Given the description of an element on the screen output the (x, y) to click on. 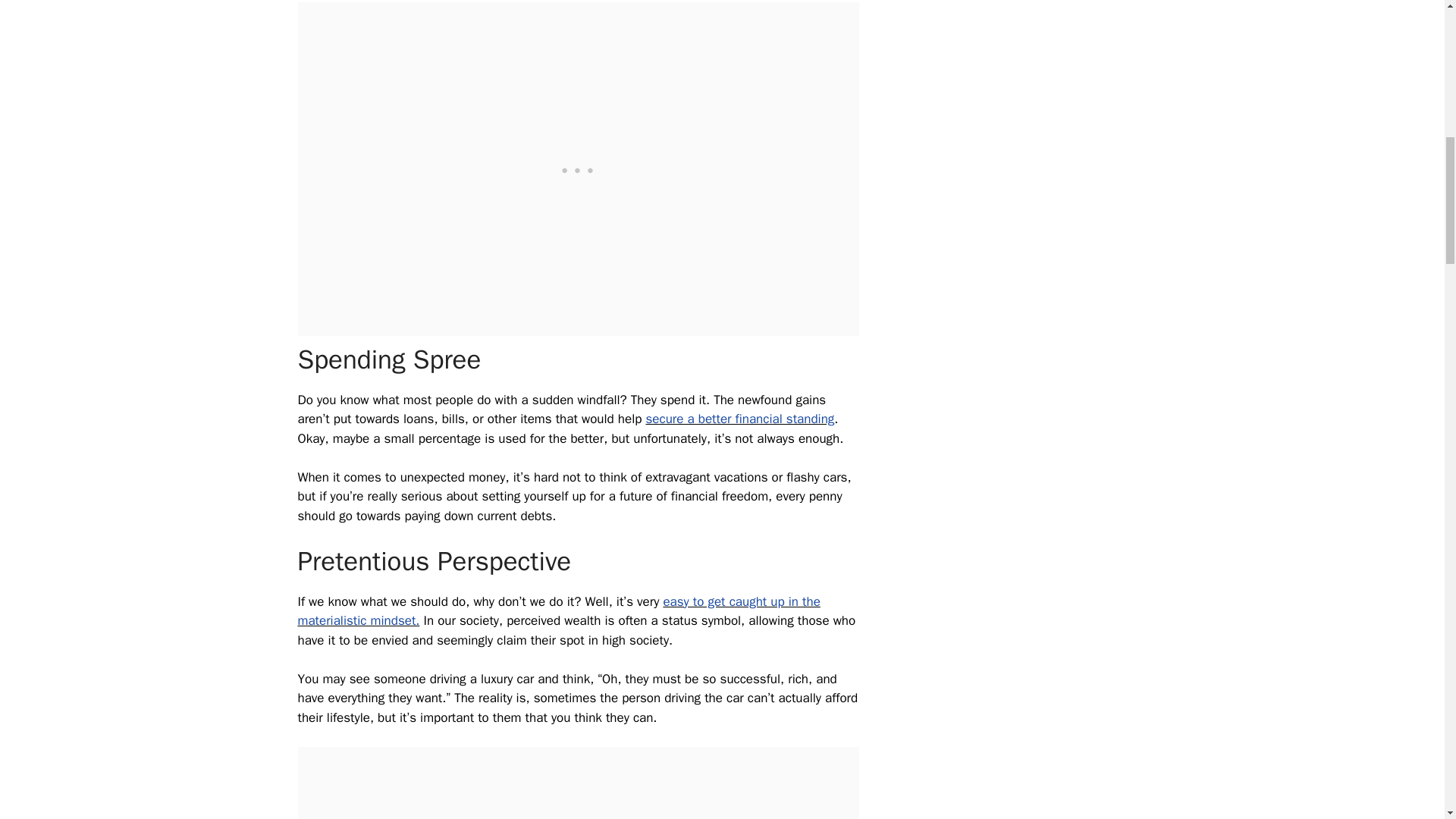
Scroll back to top (1406, 720)
